Given the description of an element on the screen output the (x, y) to click on. 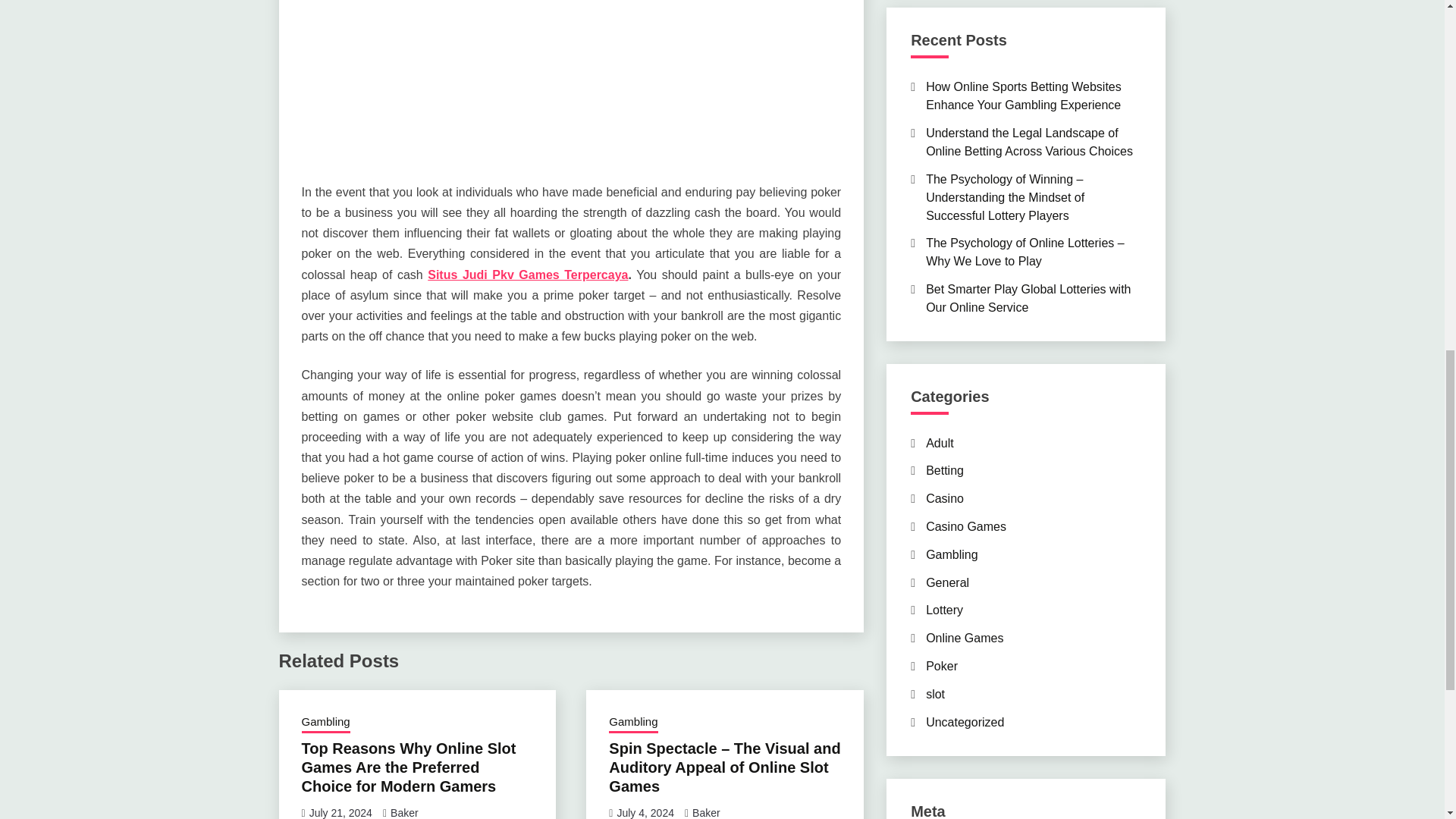
July 4, 2024 (644, 812)
Casino (944, 498)
Betting (944, 470)
Casino Games (966, 526)
Gambling (951, 554)
Gambling (633, 723)
Baker (706, 812)
